Given the description of an element on the screen output the (x, y) to click on. 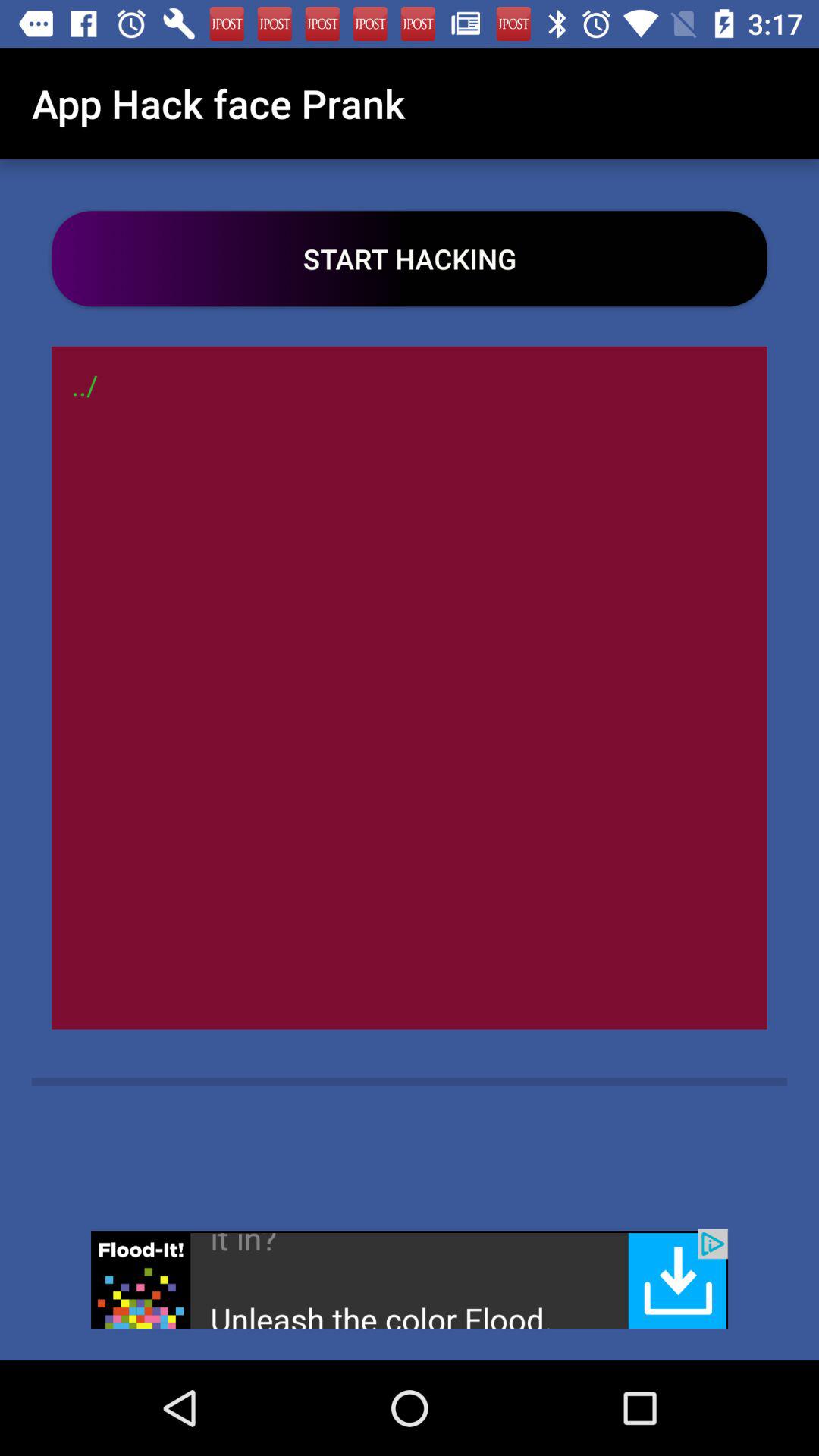
downloading (409, 1278)
